Given the description of an element on the screen output the (x, y) to click on. 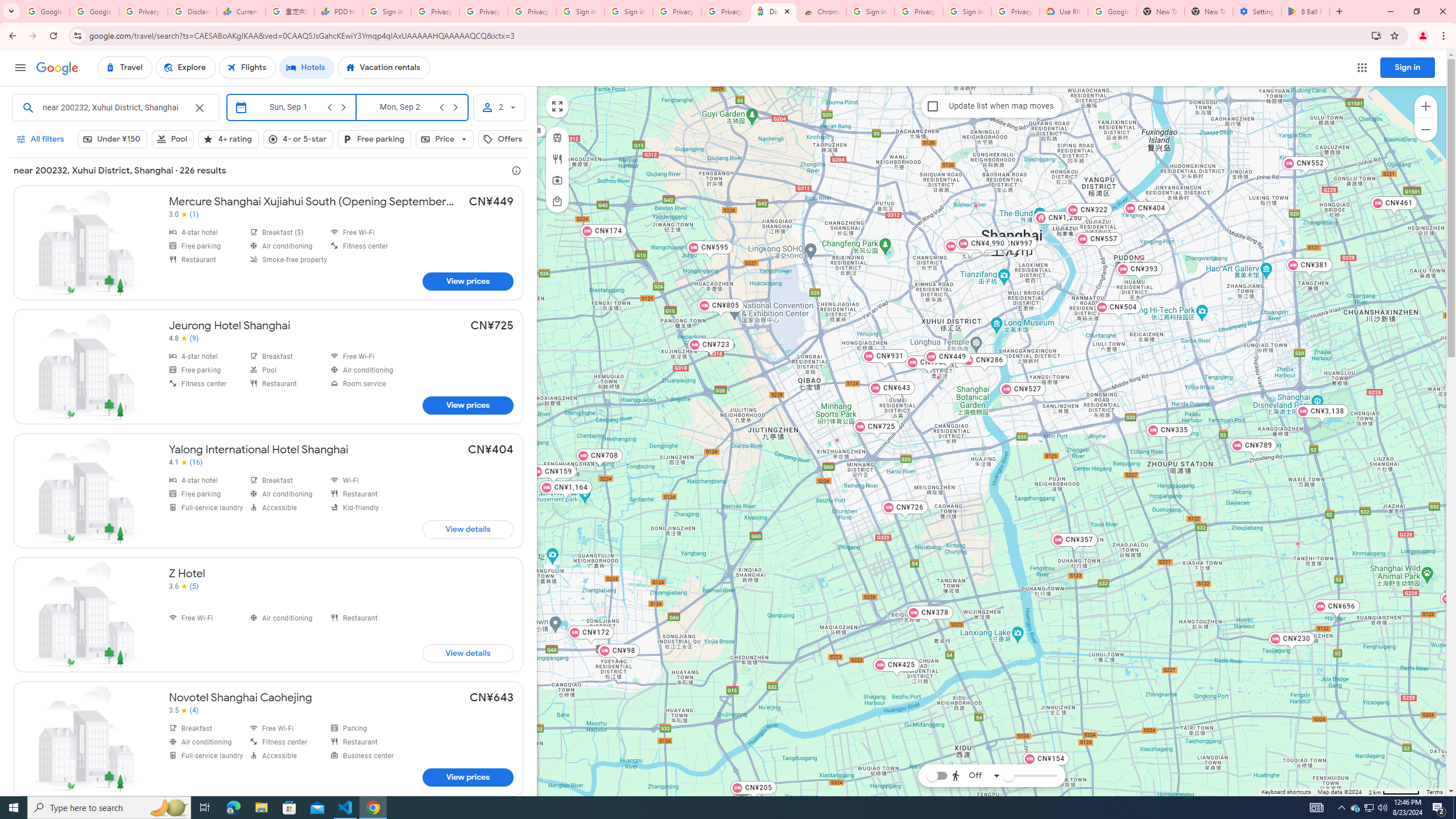
Clear (198, 108)
PDD Holdings Inc - ADR (PDD) Price & News - Google Finance (338, 11)
4+ rating, Guest rating, Not selected (228, 139)
4.8 out of 5 stars from 9 reviews, Jeurong Hotel Shanghai (183, 338)
View prices for Novotel Shanghai Caohejing (467, 777)
Zoom in map (1425, 106)
